Given the description of an element on the screen output the (x, y) to click on. 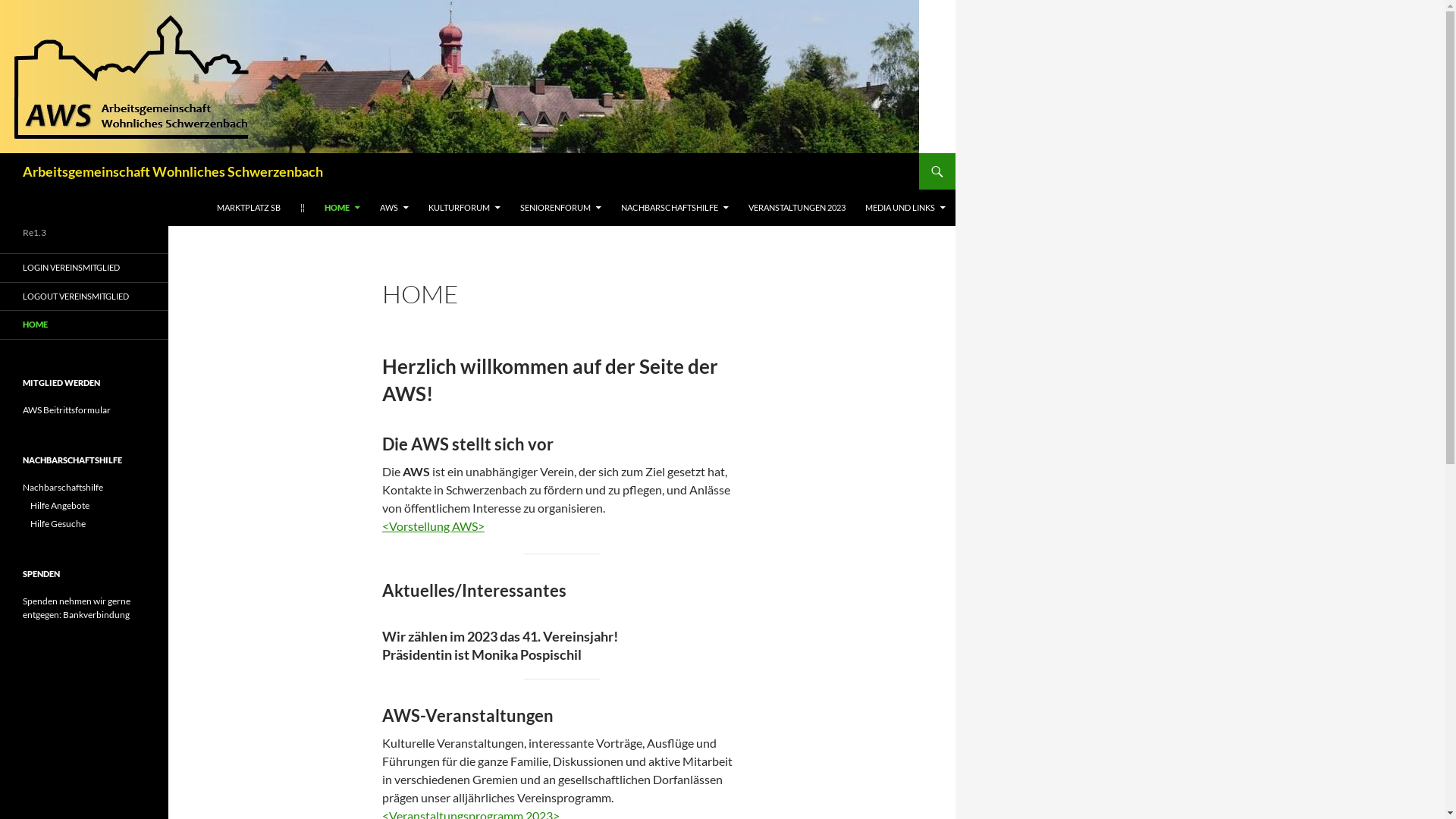
Suchen Element type: text (3, 152)
Arbeitsgemeinschaft Wohnliches Schwerzenbach Element type: text (172, 171)
Nachbarschaftshilfe Element type: text (62, 486)
LOGIN VEREINSMITGLIED Element type: text (84, 268)
SENIORENFORUM Element type: text (560, 207)
HOME Element type: text (342, 207)
LOGOUT VEREINSMITGLIED Element type: text (84, 296)
HOME Element type: text (84, 324)
NACHBARSCHAFTSHILFE Element type: text (674, 207)
AWS Beitrittsformular Element type: text (66, 408)
Spenden nehmen wir gerne entgegen: Bankverbindung Element type: text (76, 606)
KULTURFORUM Element type: text (464, 207)
Hilfe Angebote Element type: text (59, 504)
MEDIA UND LINKS Element type: text (905, 207)
<Vorstellung AWS> Element type: text (433, 525)
VERANSTALTUNGEN 2023 Element type: text (796, 207)
AWS Element type: text (393, 207)
Hilfe Gesuche Element type: text (57, 522)
ZUM INHALT SPRINGEN Element type: text (216, 188)
MARKTPLATZ SB Element type: text (248, 207)
